Given the description of an element on the screen output the (x, y) to click on. 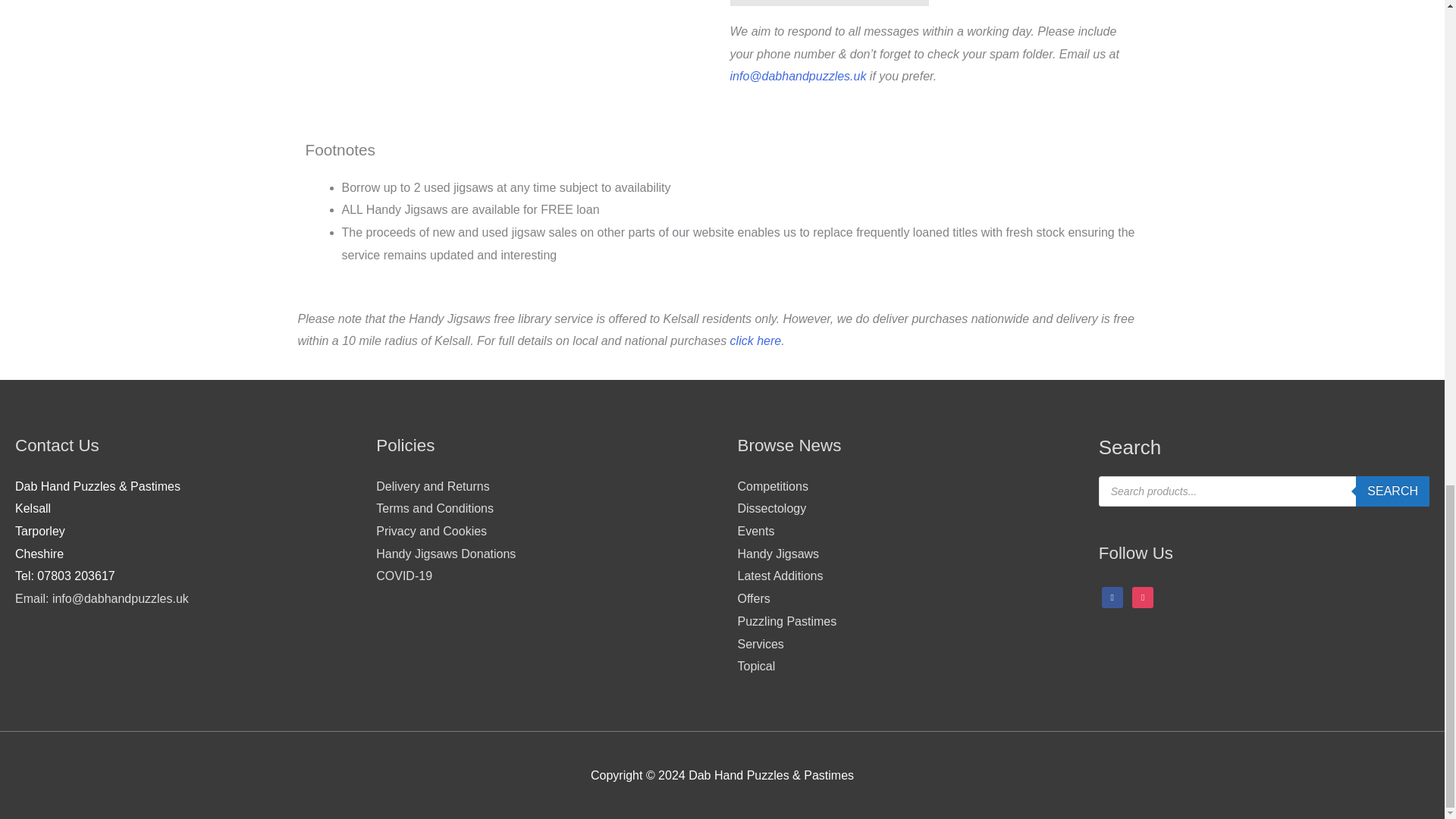
Delivery and Returns (432, 486)
COVID-19 (403, 575)
Privacy and Cookies (430, 530)
Events (755, 530)
Facebook (1112, 596)
Handy Jigsaws Donations (445, 553)
Terms and Conditions (434, 508)
Dissectology (771, 508)
click here (755, 340)
Competitions (772, 486)
Latest Additions (779, 575)
Default Label (1142, 596)
Handy Jigsaws (777, 553)
